Given the description of an element on the screen output the (x, y) to click on. 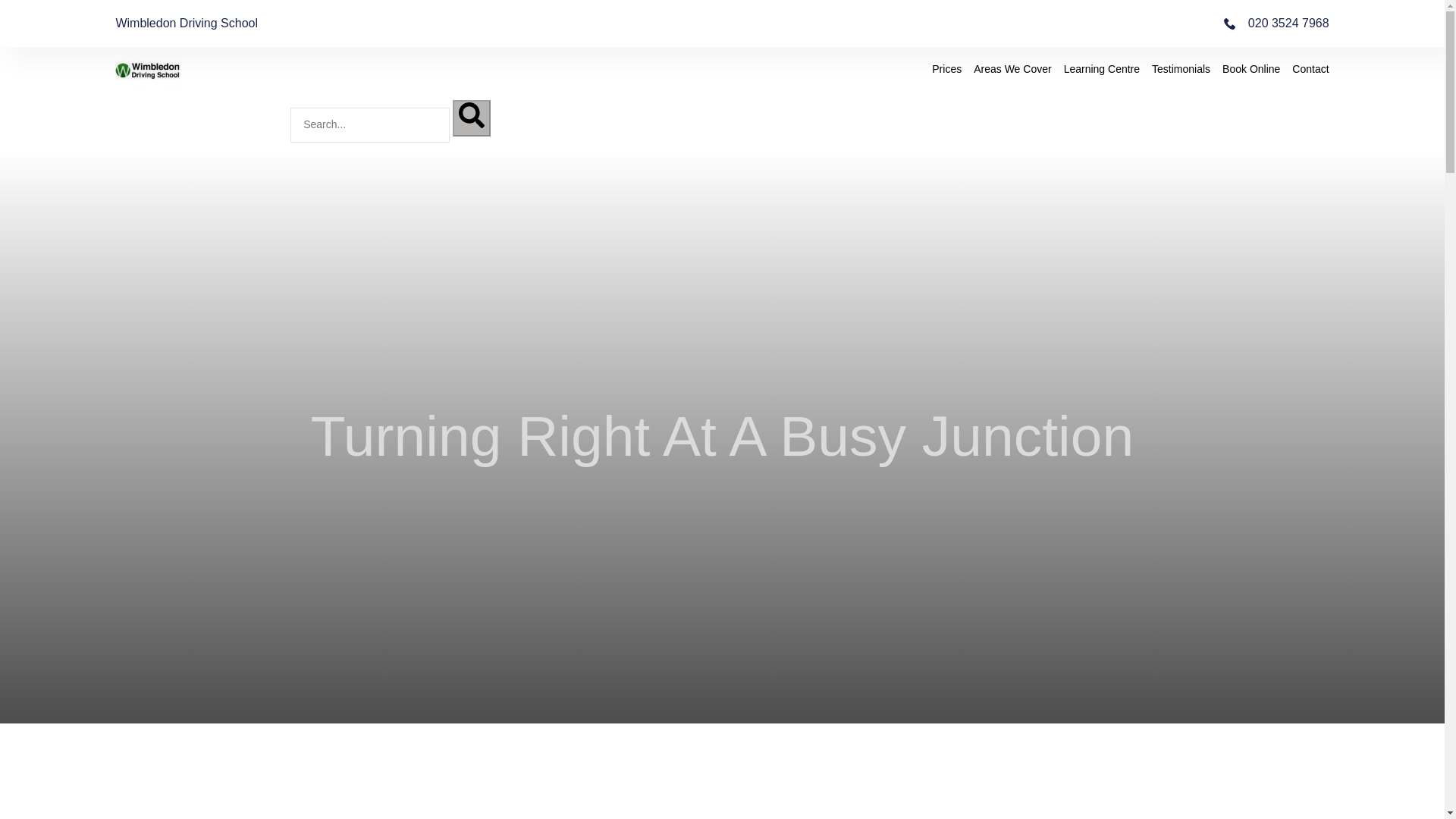
Areas We Cover (1012, 69)
Prices (945, 69)
Contact (1309, 69)
020 3524 7968 (1276, 23)
Book Online (1251, 69)
Learning Centre (1102, 69)
Testimonials (1180, 69)
